Given the description of an element on the screen output the (x, y) to click on. 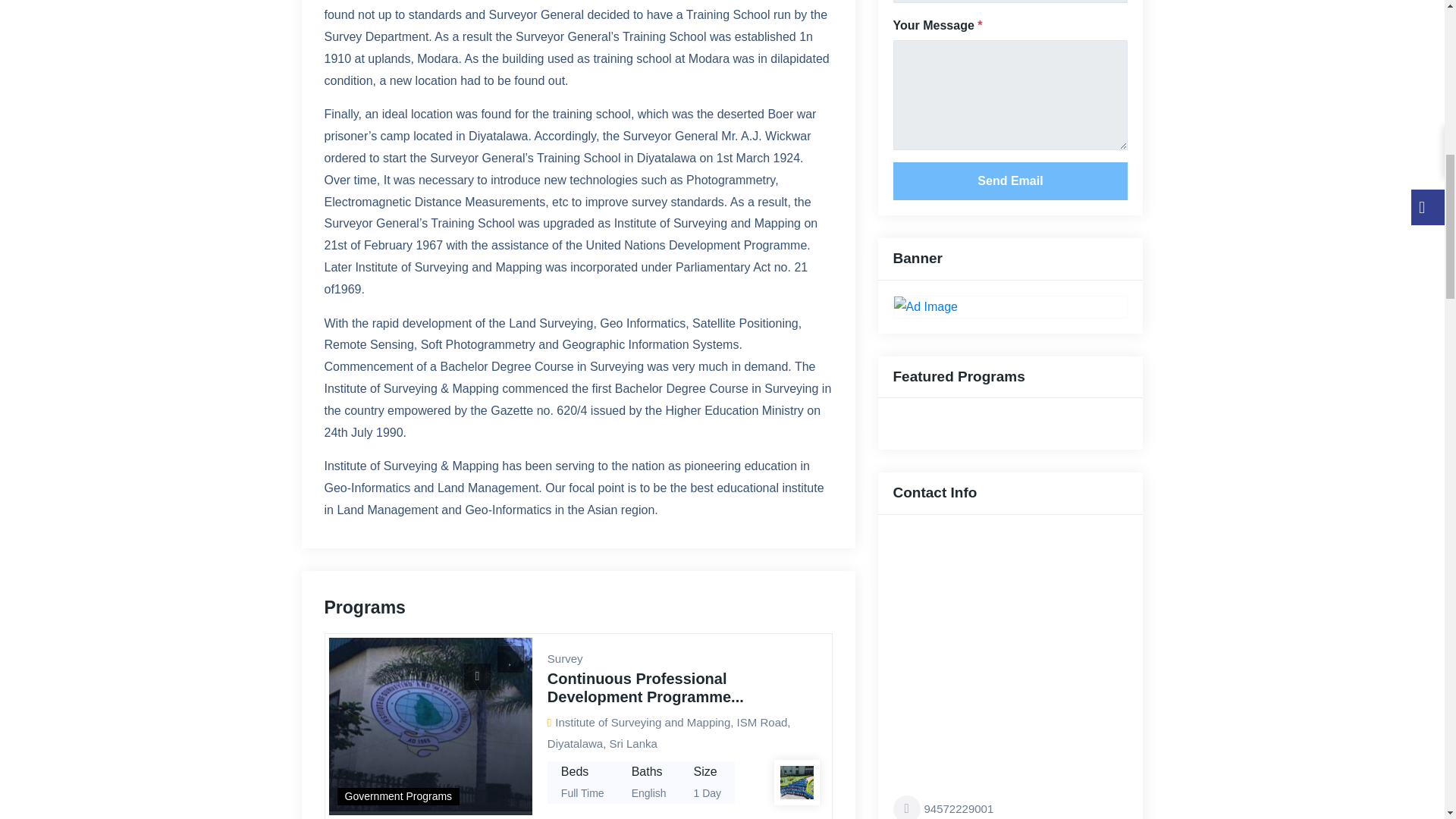
Survey (565, 658)
WhatsApp Number (1010, 807)
Government Programs (398, 796)
Continuous Professional Development Programme... (645, 687)
